Given the description of an element on the screen output the (x, y) to click on. 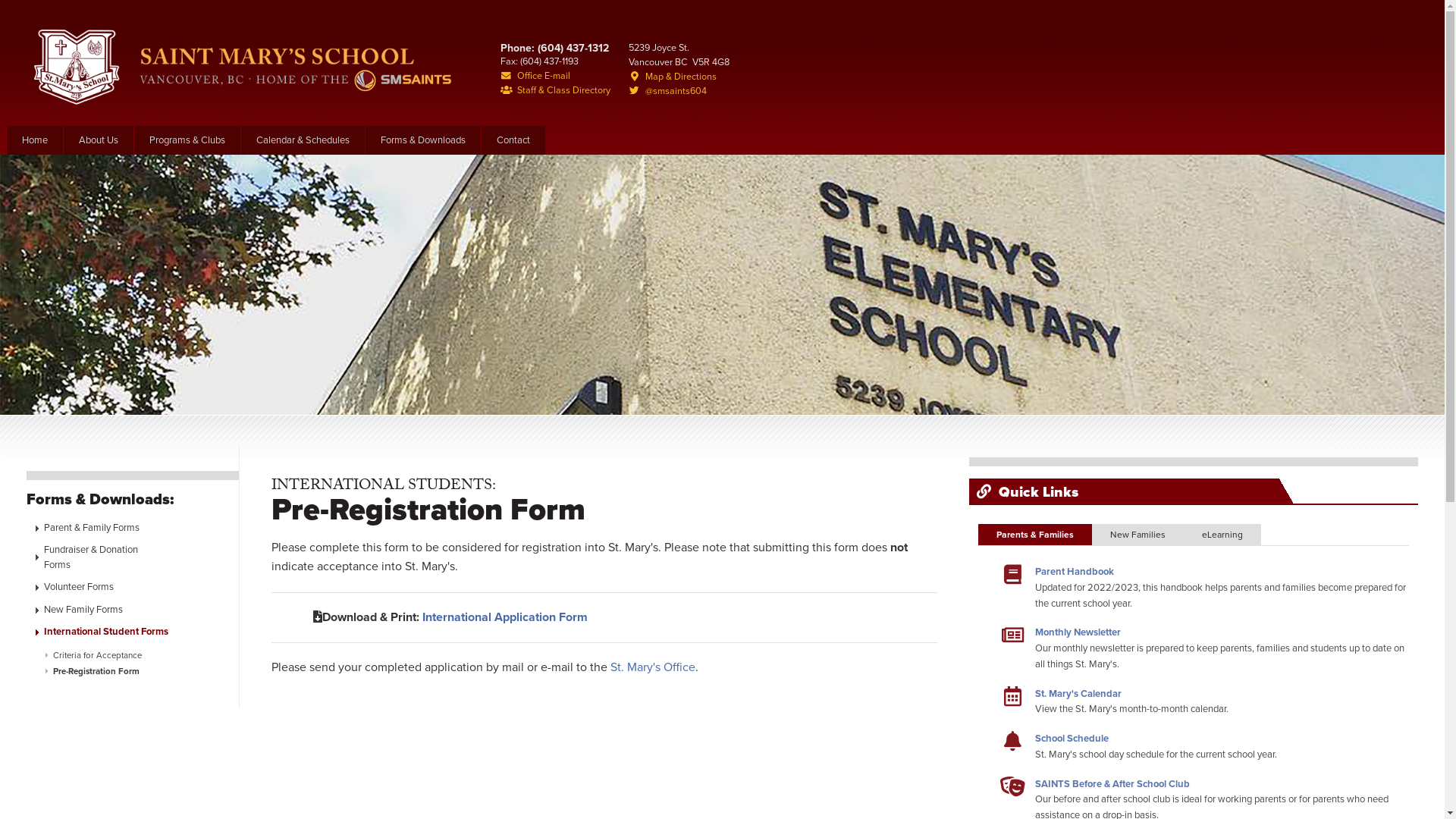
New Family Forms Element type: text (137, 610)
Criteria for Acceptance Element type: text (138, 655)
New Families Element type: text (1137, 534)
Parents & Families Element type: text (1035, 534)
  Map & Directions Element type: text (678, 76)
Volunteer Forms Element type: text (137, 587)
International Student Forms Element type: text (137, 632)
Programs & Clubs Element type: text (186, 139)
About Us Element type: text (97, 139)
  @smsaints604 Element type: text (678, 91)
Parent Handbook Element type: text (1074, 571)
Contact Element type: text (512, 139)
Monthly Newsletter Element type: text (1077, 632)
eLearning Element type: text (1222, 534)
International Application Form Element type: text (504, 616)
St. Mary's Calendar Element type: text (1078, 693)
School Schedule Element type: text (1071, 738)
Fundraiser & Donation
Forms Element type: text (137, 557)
Pre-Registration Form Element type: text (138, 671)
St. Mary's Office Element type: text (652, 666)
  Office E-mail Element type: text (555, 76)
Parent & Family Forms Element type: text (137, 528)
Forms & Downloads Element type: text (422, 139)
Calendar & Schedules Element type: text (302, 139)
Home Element type: text (34, 139)
SAINTS Before & After School Club Element type: text (1112, 784)
  Staff & Class Directory Element type: text (555, 90)
